Given the description of an element on the screen output the (x, y) to click on. 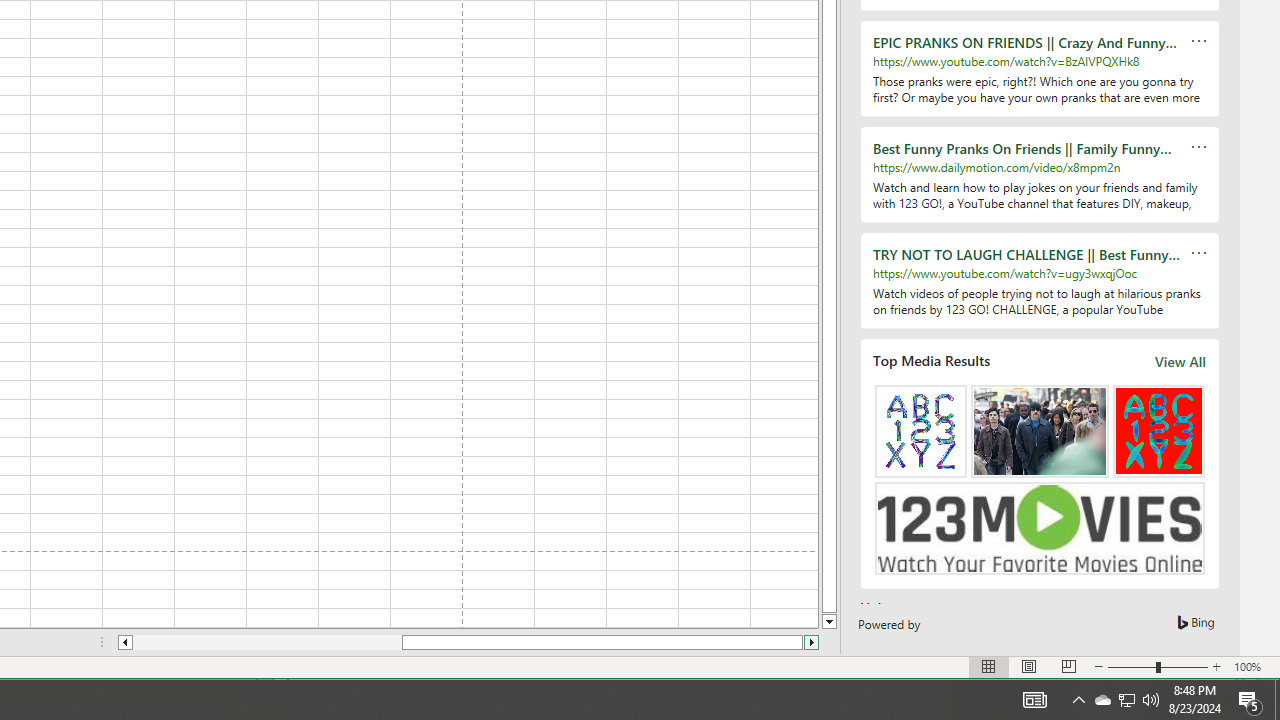
Zoom In (1217, 667)
Normal (988, 667)
User Promoted Notification Area (1126, 699)
Q2790: 100% (1151, 699)
Page left (267, 642)
Column right (811, 642)
Column left (1126, 699)
Action Center, 5 new notifications (1102, 699)
AutomationID: 4105 (124, 642)
Zoom (1250, 699)
Show desktop (1034, 699)
